Given the description of an element on the screen output the (x, y) to click on. 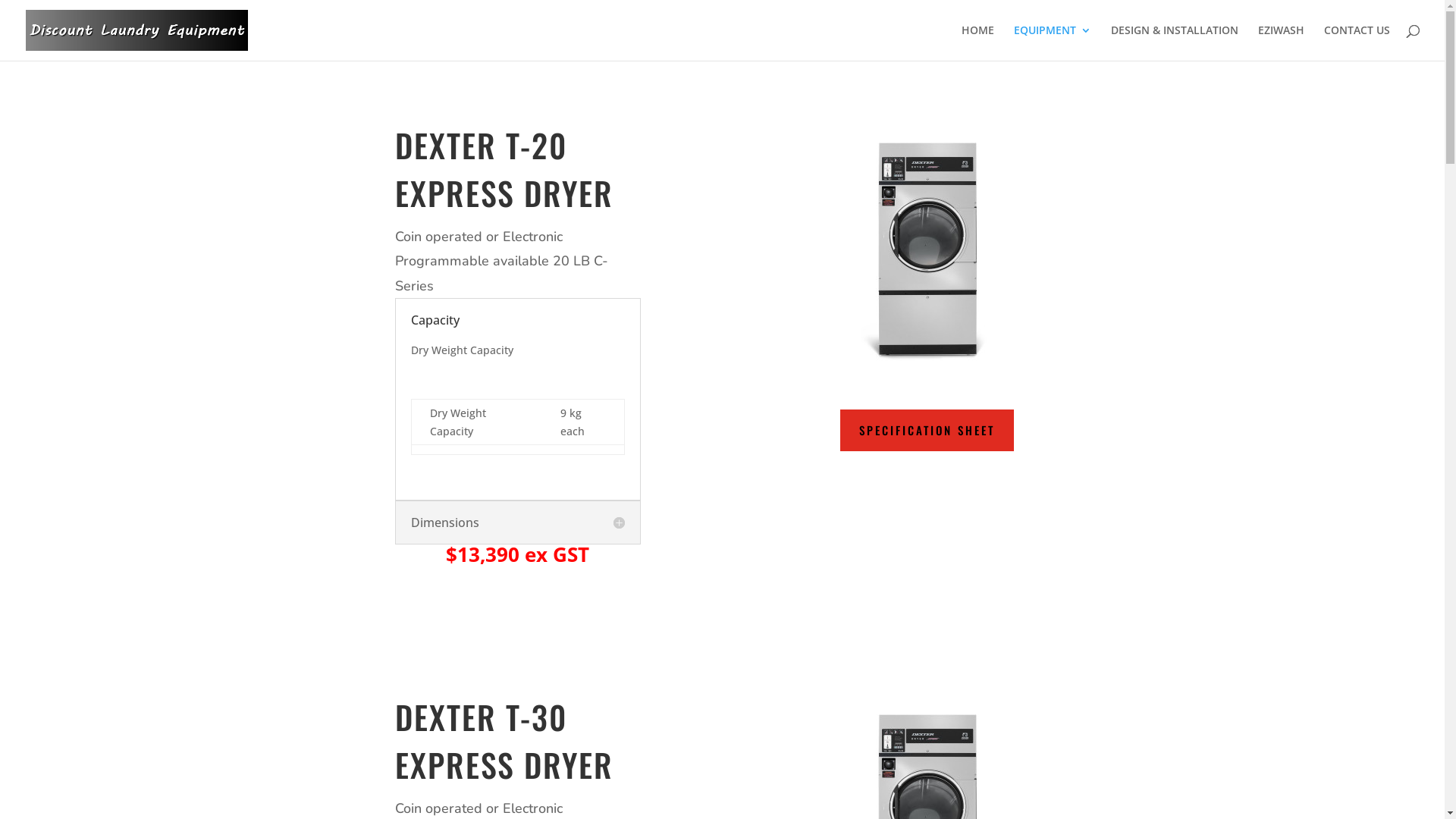
HOME Element type: text (977, 42)
EQUIPMENT Element type: text (1052, 42)
CONTACT US Element type: text (1357, 42)
t-30-express-black-front Element type: hover (926, 250)
EZIWASH Element type: text (1281, 42)
DESIGN & INSTALLATION Element type: text (1174, 42)
SPECIFICATION SHEET Element type: text (926, 430)
